Given the description of an element on the screen output the (x, y) to click on. 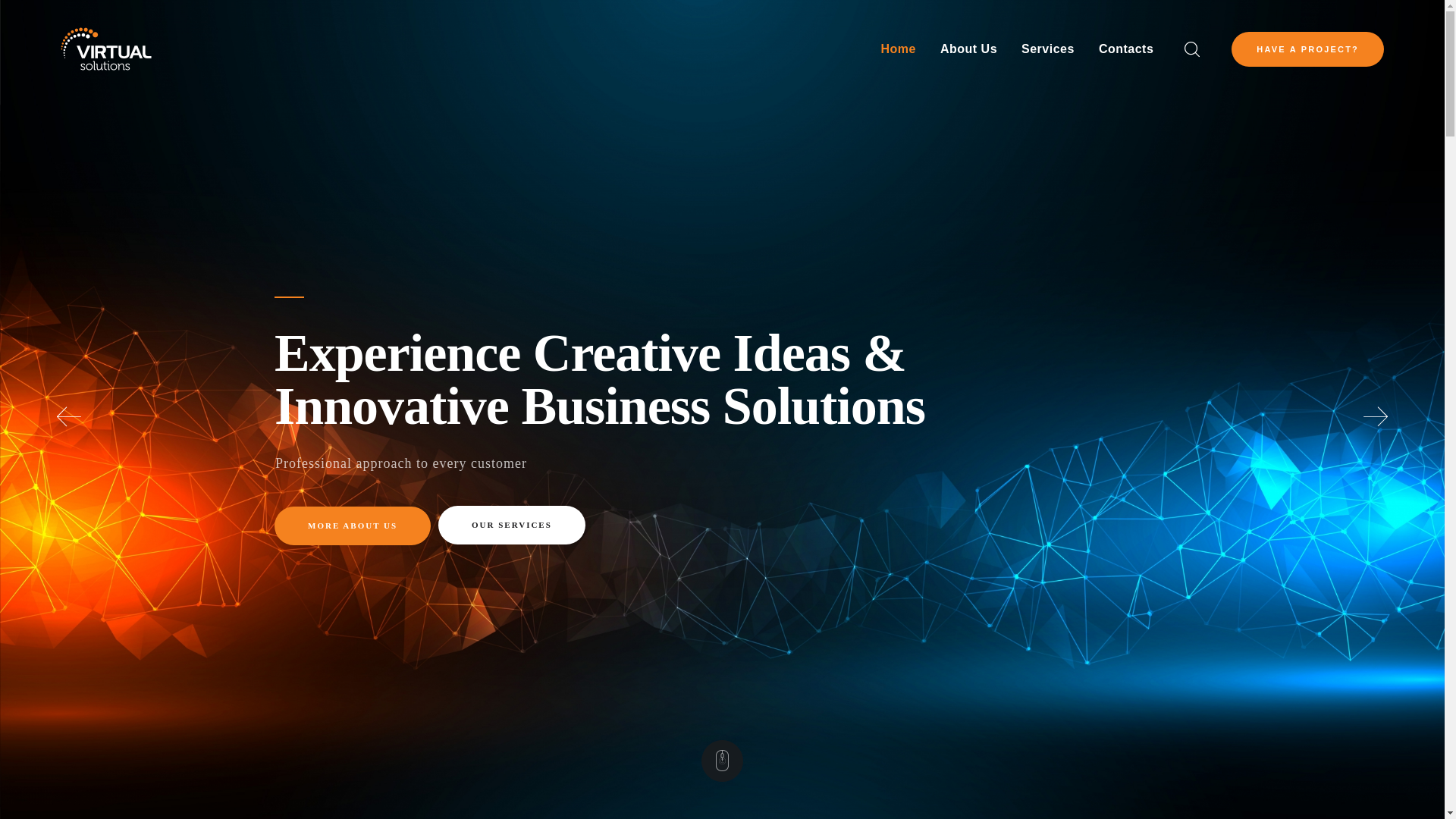
Home (897, 48)
Contacts (1126, 48)
Services (1047, 48)
About Us (968, 48)
HAVE A PROJECT? (1307, 48)
